Given the description of an element on the screen output the (x, y) to click on. 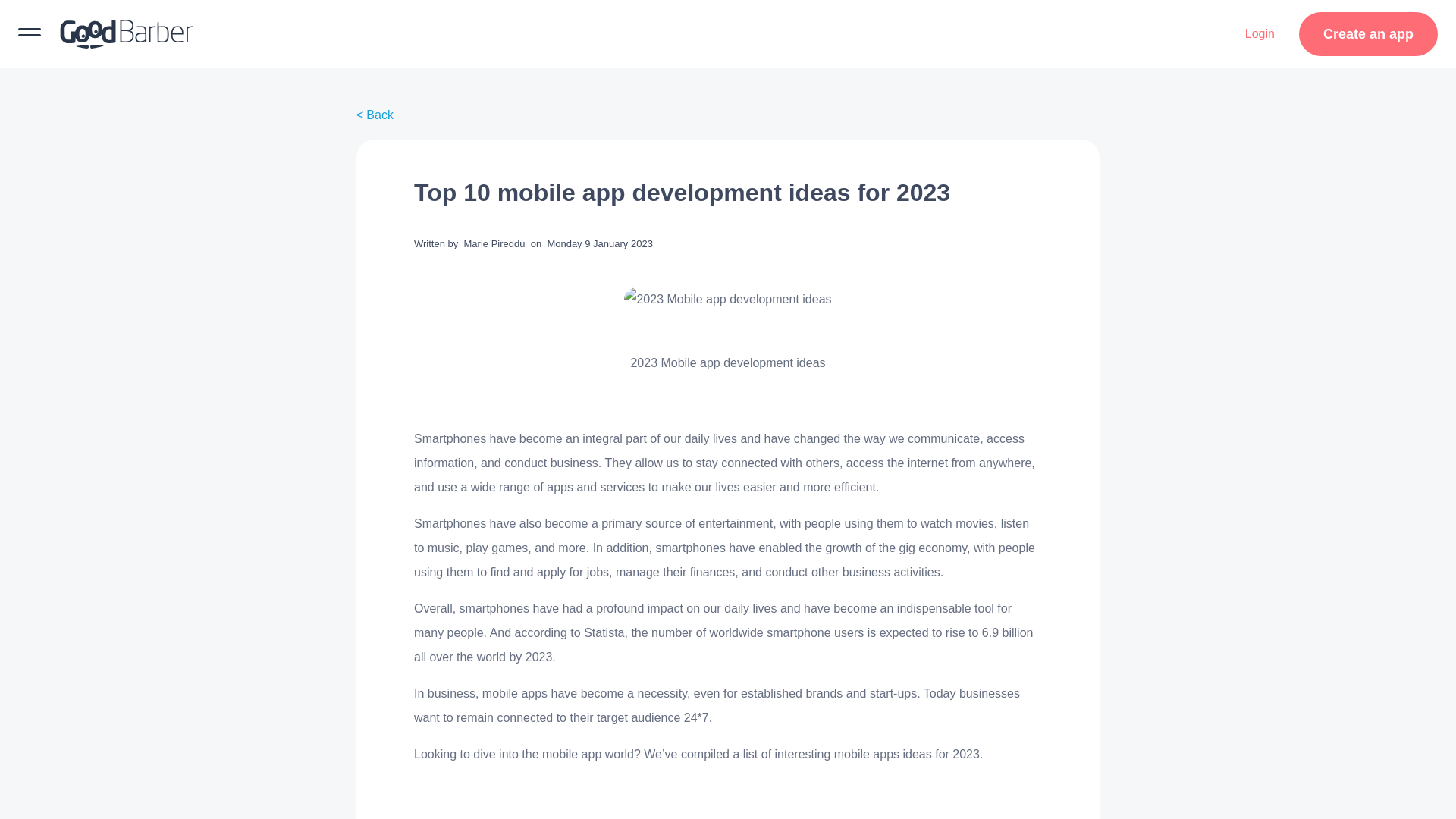
Create an app (1368, 34)
2023 Mobile app development ideas (727, 299)
Login (1259, 34)
